Given the description of an element on the screen output the (x, y) to click on. 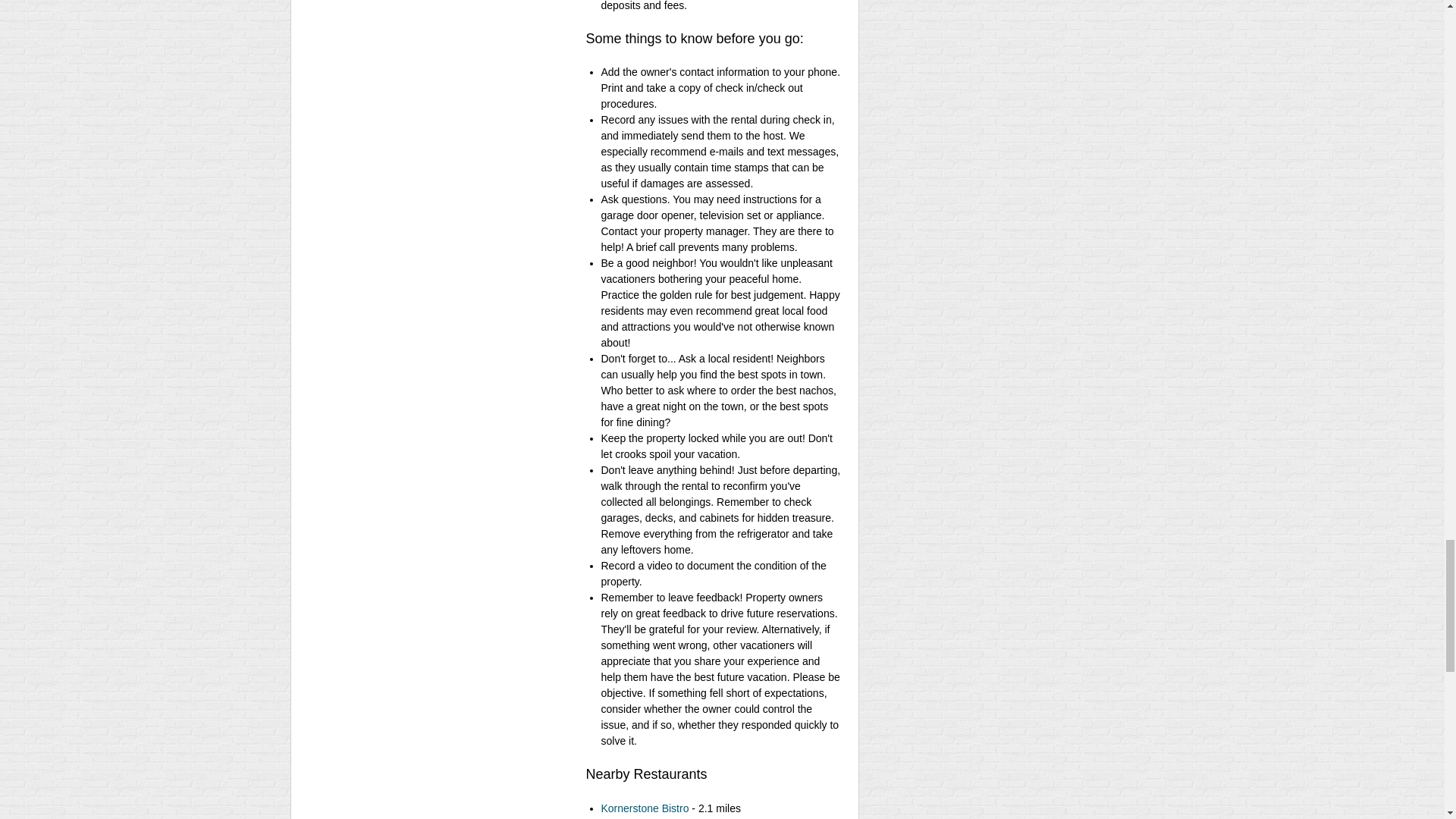
Kornerstone Bistro (643, 808)
